Given the description of an element on the screen output the (x, y) to click on. 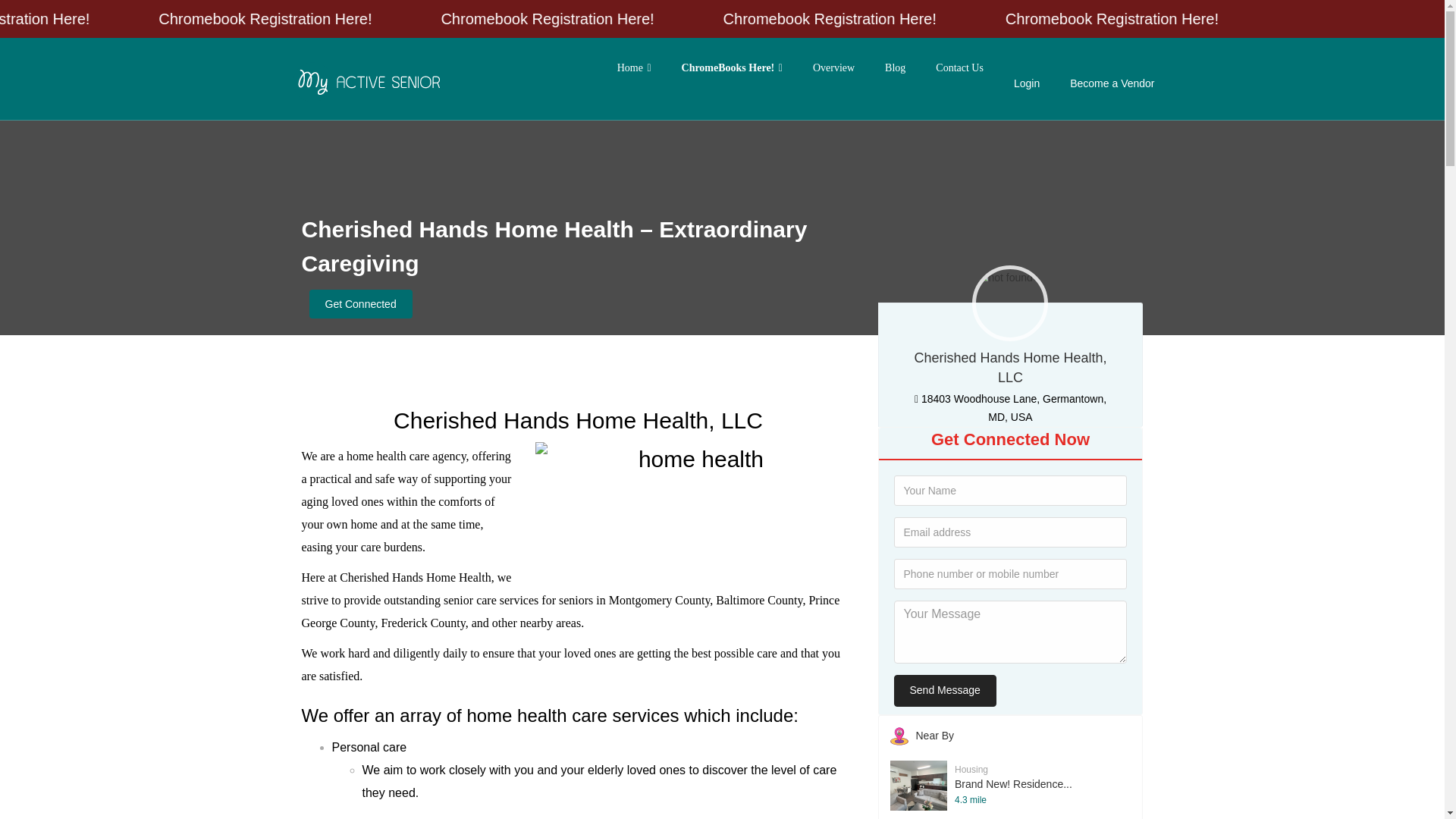
Chromebook Registration Here! (103, 18)
Chromebook Registration Here! (1211, 18)
Chromebook Registration Here! (654, 18)
Chromebook Registration Here! (375, 18)
Login (1026, 82)
Home (634, 67)
Cherished Hands Home Health - Extraordinary Caregiving 1 (695, 502)
Become a Vendor (1112, 82)
Chromebook Registration Here! (934, 18)
